Given the description of an element on the screen output the (x, y) to click on. 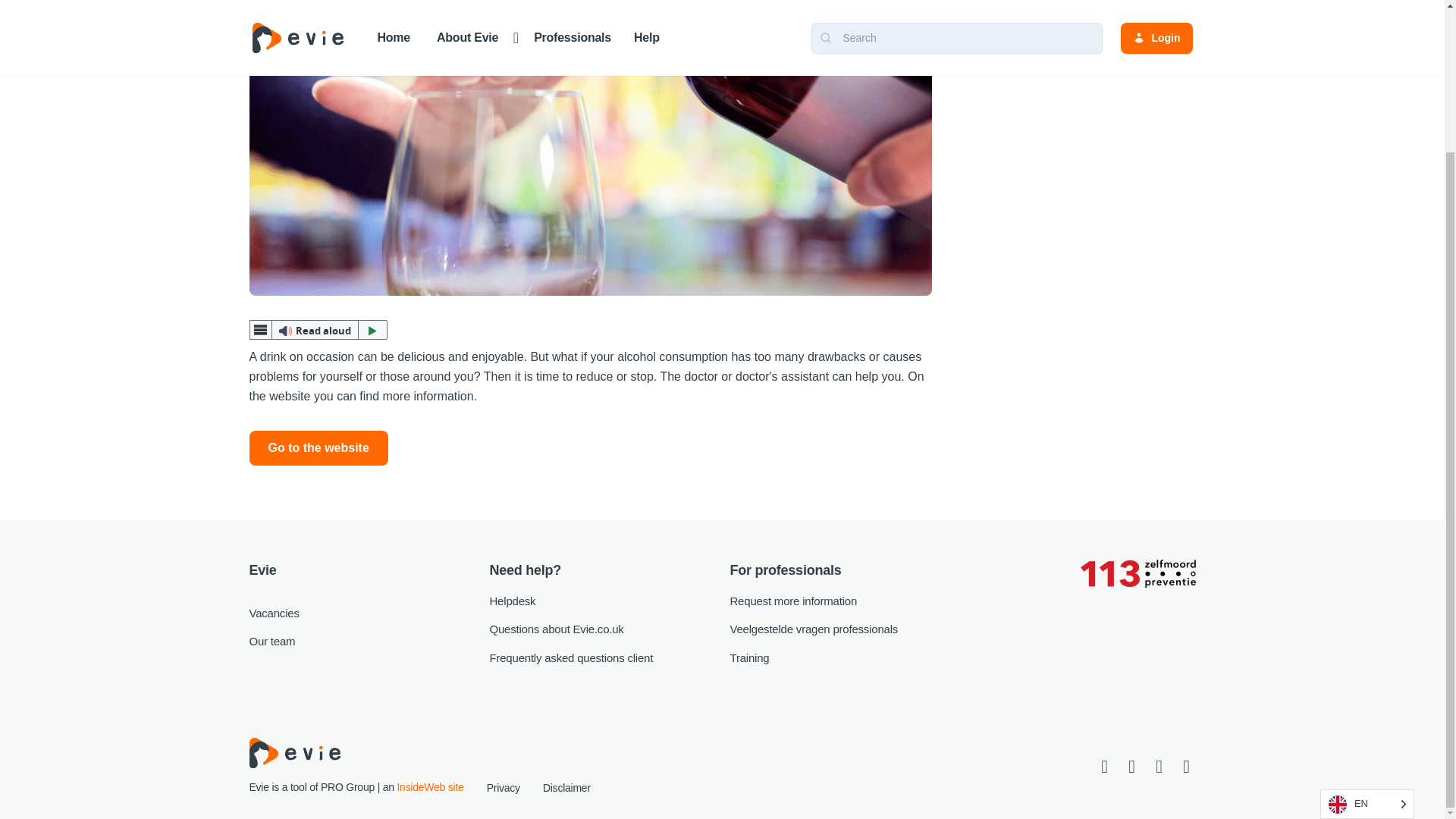
Veelgestelde vragen professionals (813, 628)
Request more information (793, 600)
webReader menu (259, 329)
Vacancies (273, 612)
Training (748, 656)
Questions about Evie.co.uk (556, 628)
Helpdesk (512, 600)
Go to the website (317, 448)
Frequently asked questions client (571, 656)
Our team (271, 640)
Read aloud (317, 329)
Have the text read aloud with ReadSpeaker (317, 329)
